Given the description of an element on the screen output the (x, y) to click on. 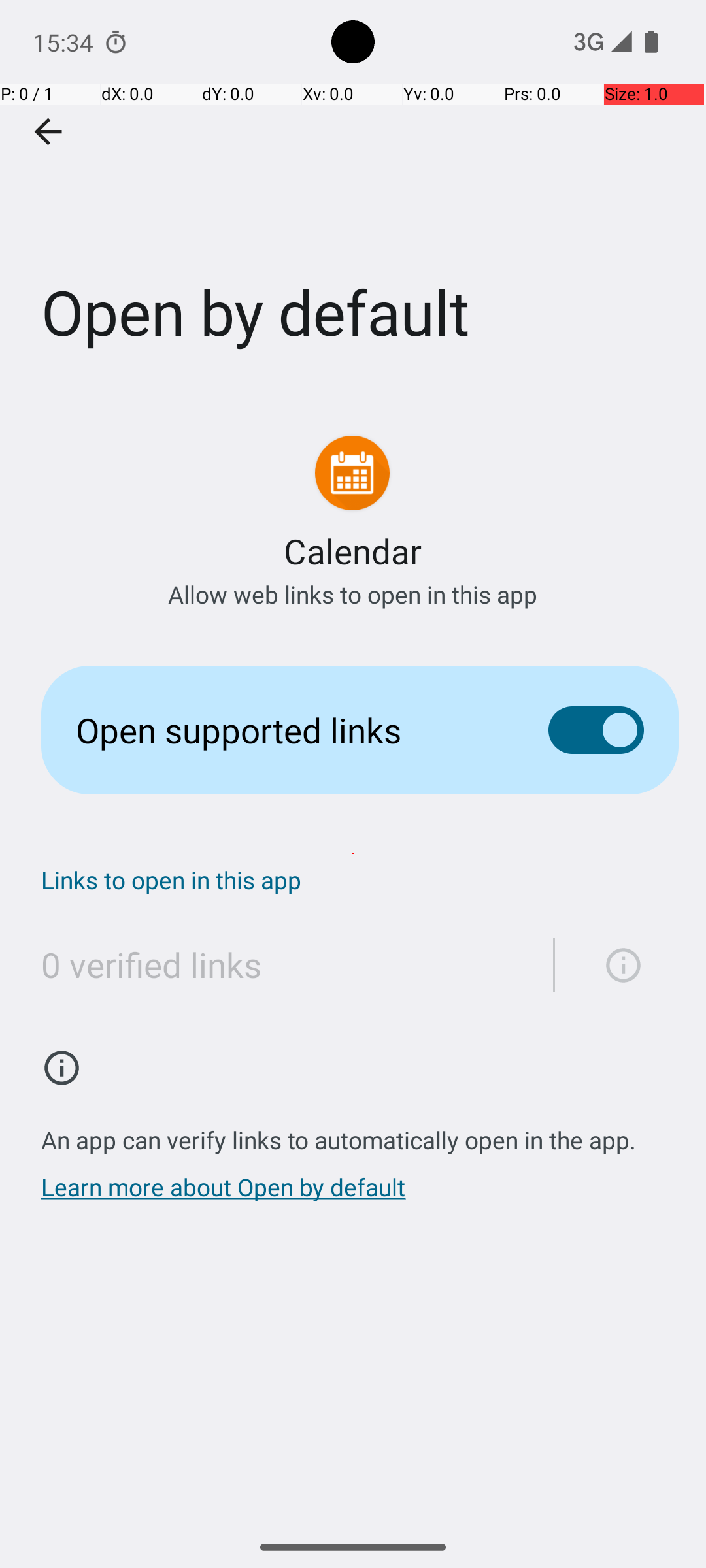
Open by default Element type: android.widget.FrameLayout (353, 195)
Allow web links to open in this app Element type: android.widget.TextView (352, 593)
Open supported links Element type: android.widget.TextView (291, 729)
Links to open in this app Element type: android.widget.TextView (359, 879)
0 verified links Element type: android.widget.TextView (151, 964)
An app can verify links to automatically open in the app. Element type: android.widget.TextView (338, 1132)
Learn more about Open by default Element type: android.widget.TextView (223, 1193)
Show verified links list Element type: android.widget.LinearLayout (616, 964)
